Given the description of an element on the screen output the (x, y) to click on. 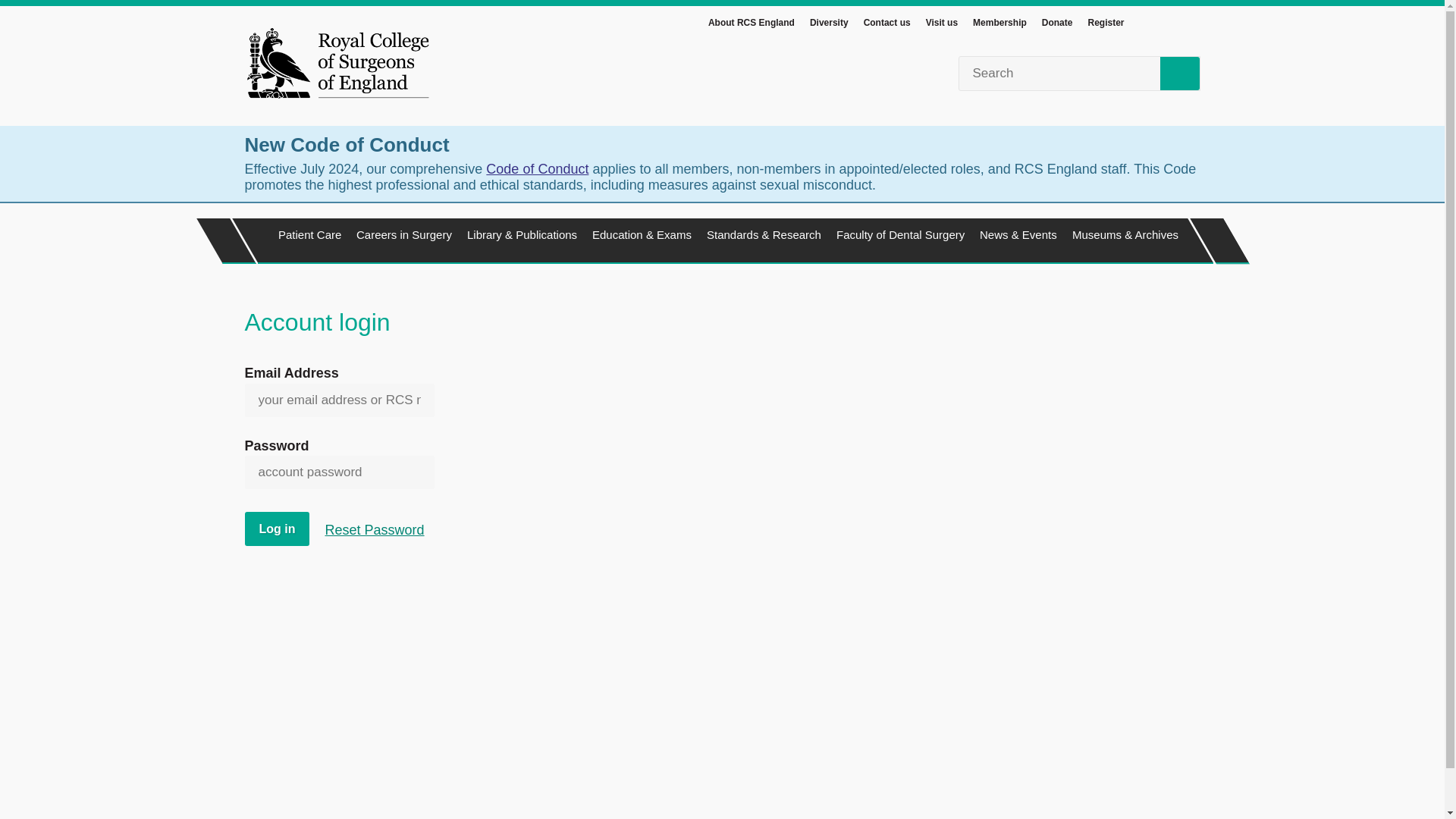
Log in (276, 528)
